Given the description of an element on the screen output the (x, y) to click on. 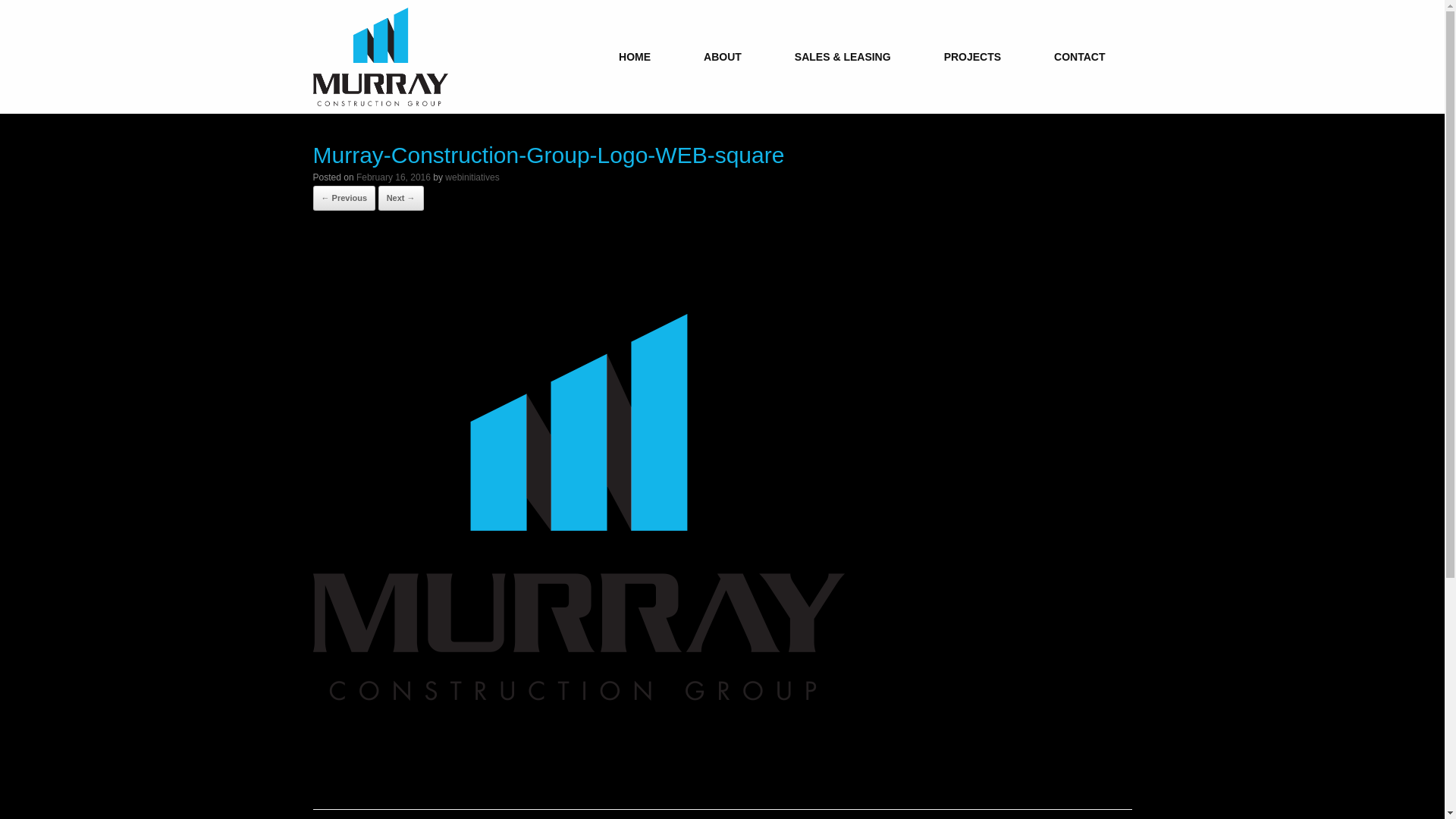
ABOUT Element type: text (722, 56)
SALES & LEASING Element type: text (842, 56)
February 16, 2016 Element type: text (393, 177)
webinitiatives Element type: text (471, 177)
Murray-Construction-Group-Logo-WEB-square Element type: hover (578, 768)
HOME Element type: text (634, 56)
Murray Construction Group Element type: hover (380, 56)
PROJECTS Element type: text (972, 56)
CONTACT Element type: text (1079, 56)
